Given the description of an element on the screen output the (x, y) to click on. 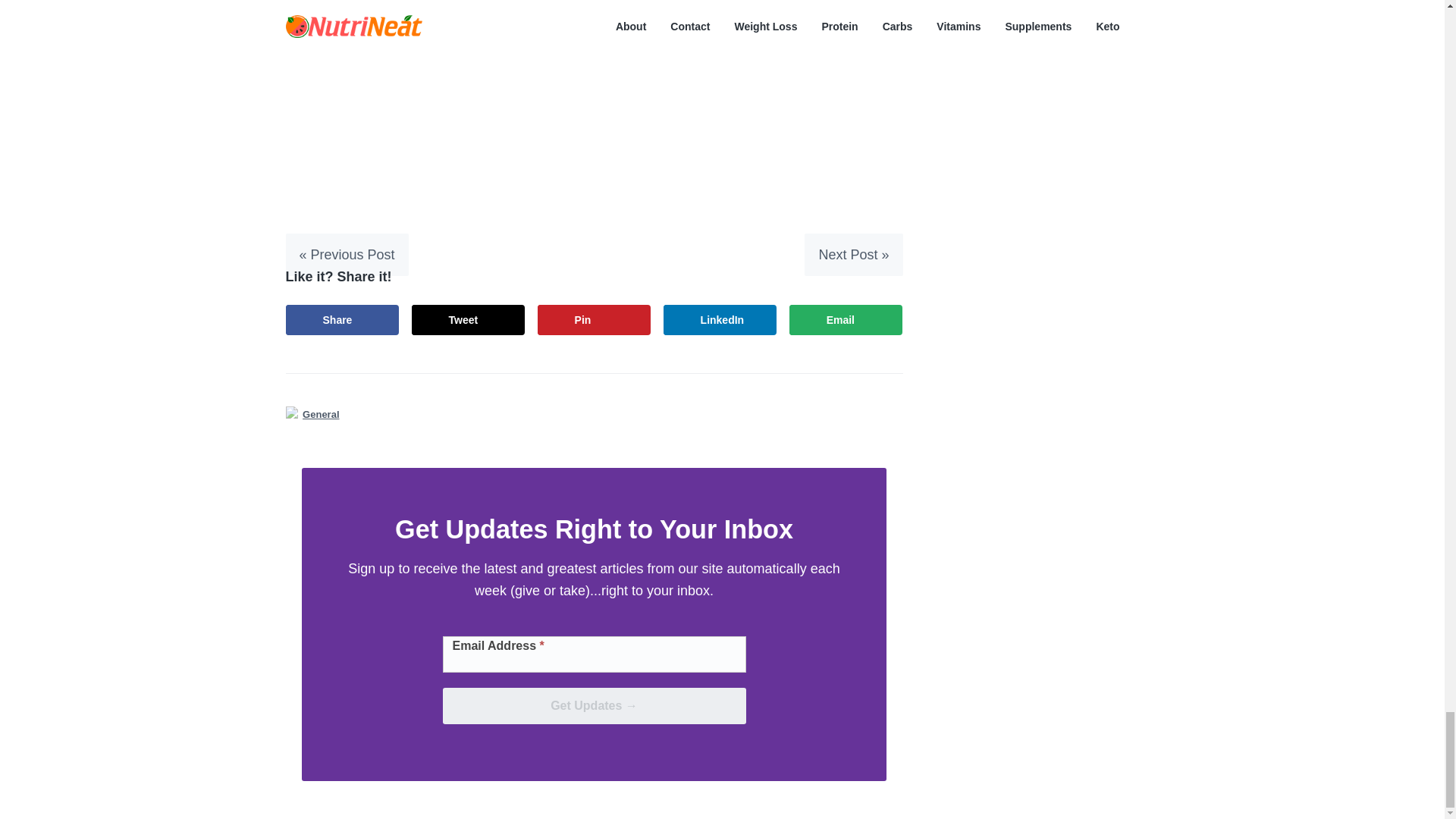
Tweet (468, 319)
LinkedIn (720, 319)
Email (845, 319)
Save to Pinterest (593, 319)
Share (341, 319)
Share on Facebook (341, 319)
Send over email (845, 319)
Share on X (468, 319)
Pin (593, 319)
Share on LinkedIn (720, 319)
General (320, 414)
